Given the description of an element on the screen output the (x, y) to click on. 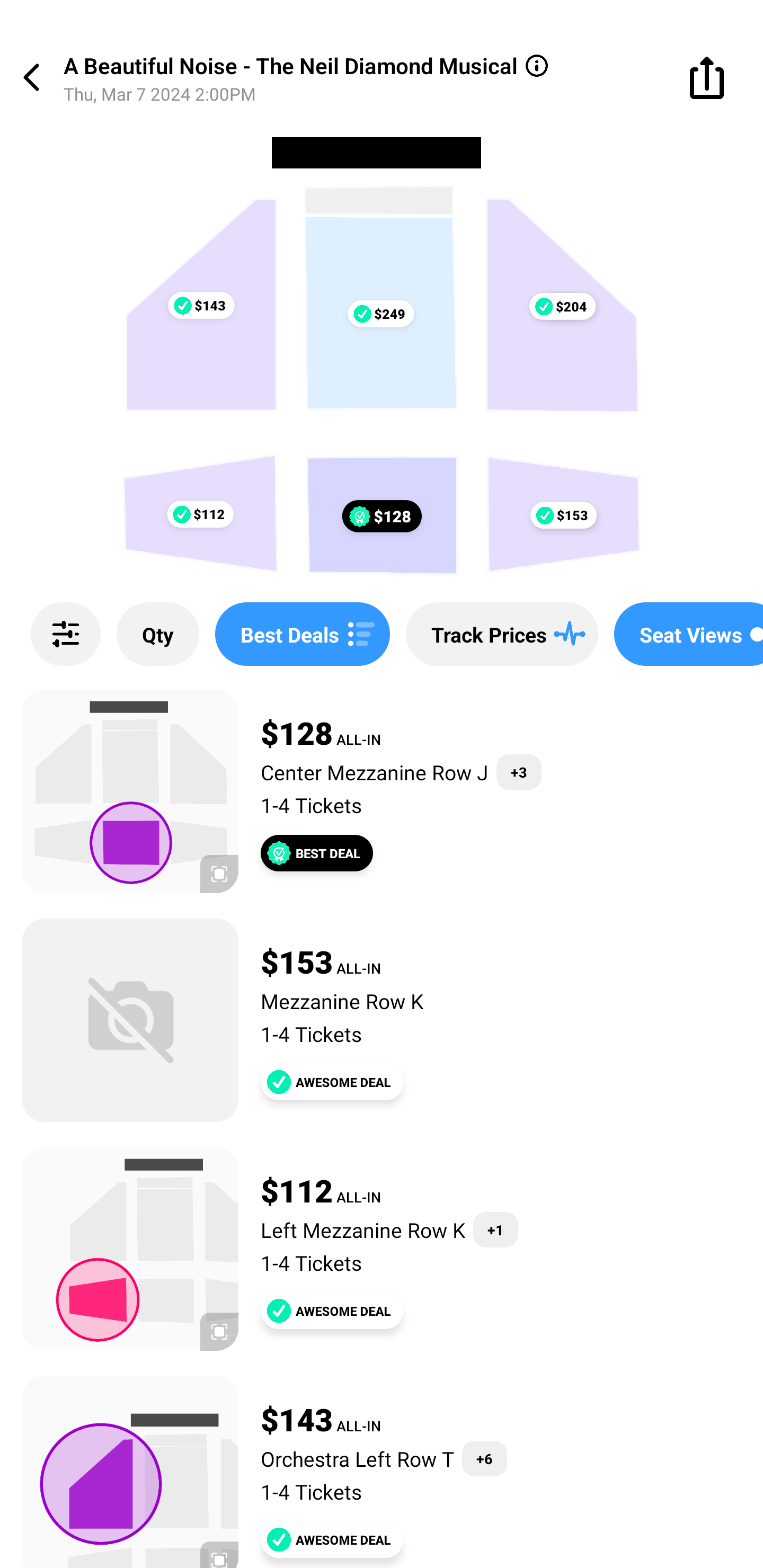
$249 (380, 313)
Qty (157, 634)
Best Deals (302, 634)
Track Prices (501, 634)
Seat Views (688, 634)
+3 (518, 772)
BEST DEAL (316, 852)
AWESOME DEAL (331, 1081)
+1 (495, 1230)
AWESOME DEAL (331, 1310)
+6 (484, 1458)
AWESOME DEAL (331, 1539)
